Given the description of an element on the screen output the (x, y) to click on. 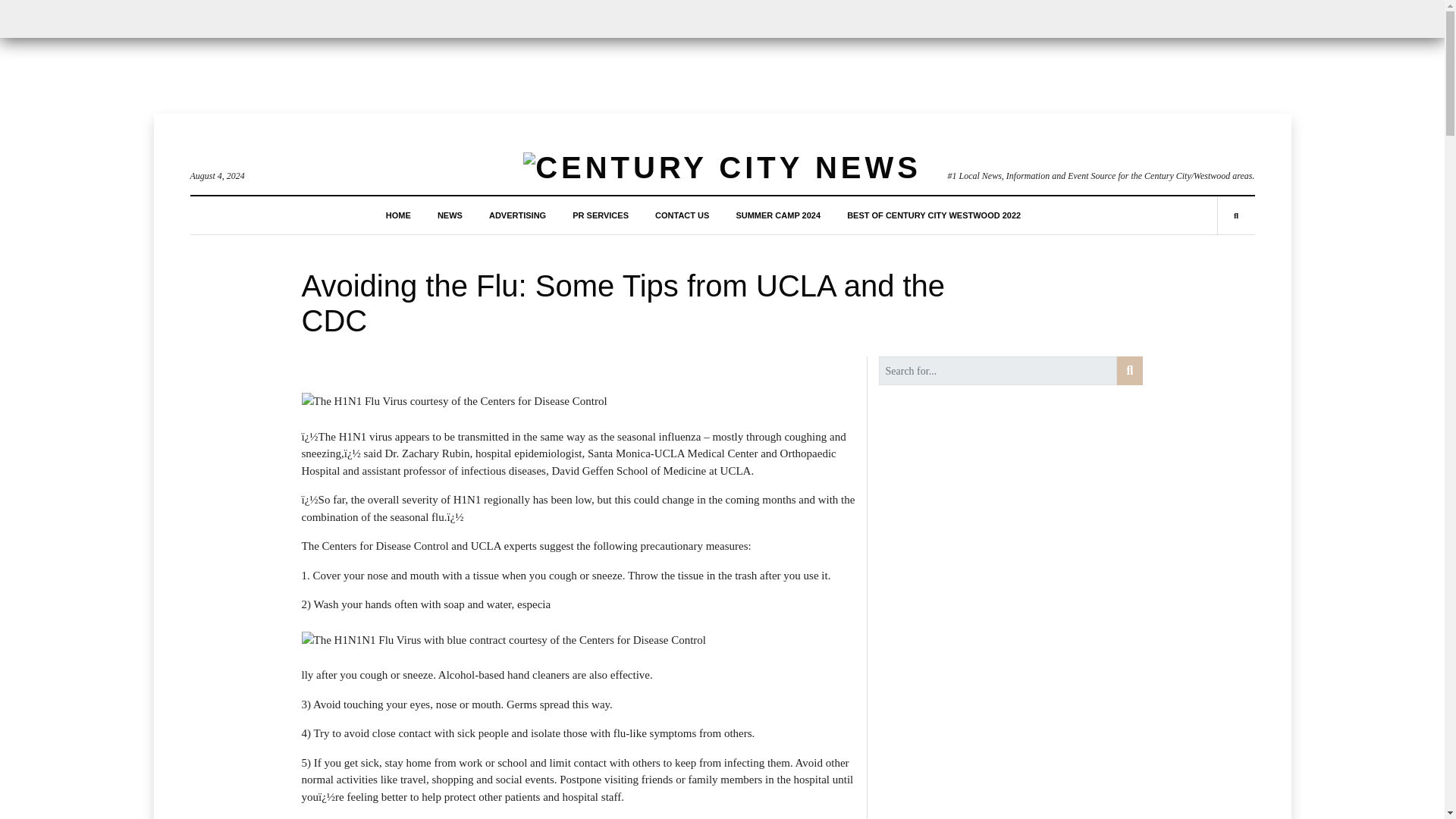
ADVERTISING (517, 215)
PR SERVICES (600, 215)
CONTACT US (682, 215)
NEWS (450, 215)
HOME (397, 215)
BEST OF CENTURY CITY WESTWOOD 2022 (933, 215)
SUMMER CAMP 2024 (778, 215)
